Given the description of an element on the screen output the (x, y) to click on. 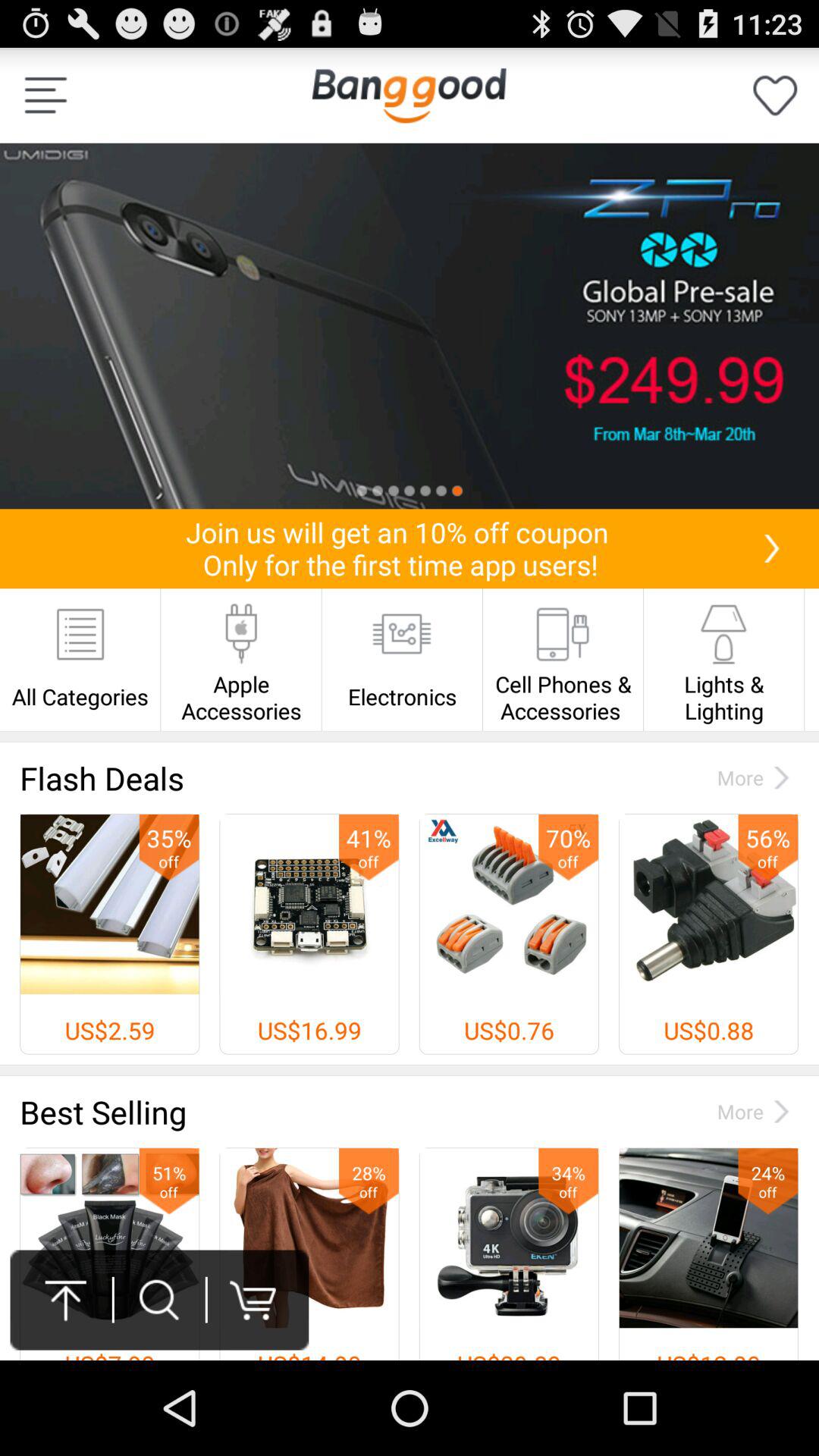
go to listing (409, 326)
